Given the description of an element on the screen output the (x, y) to click on. 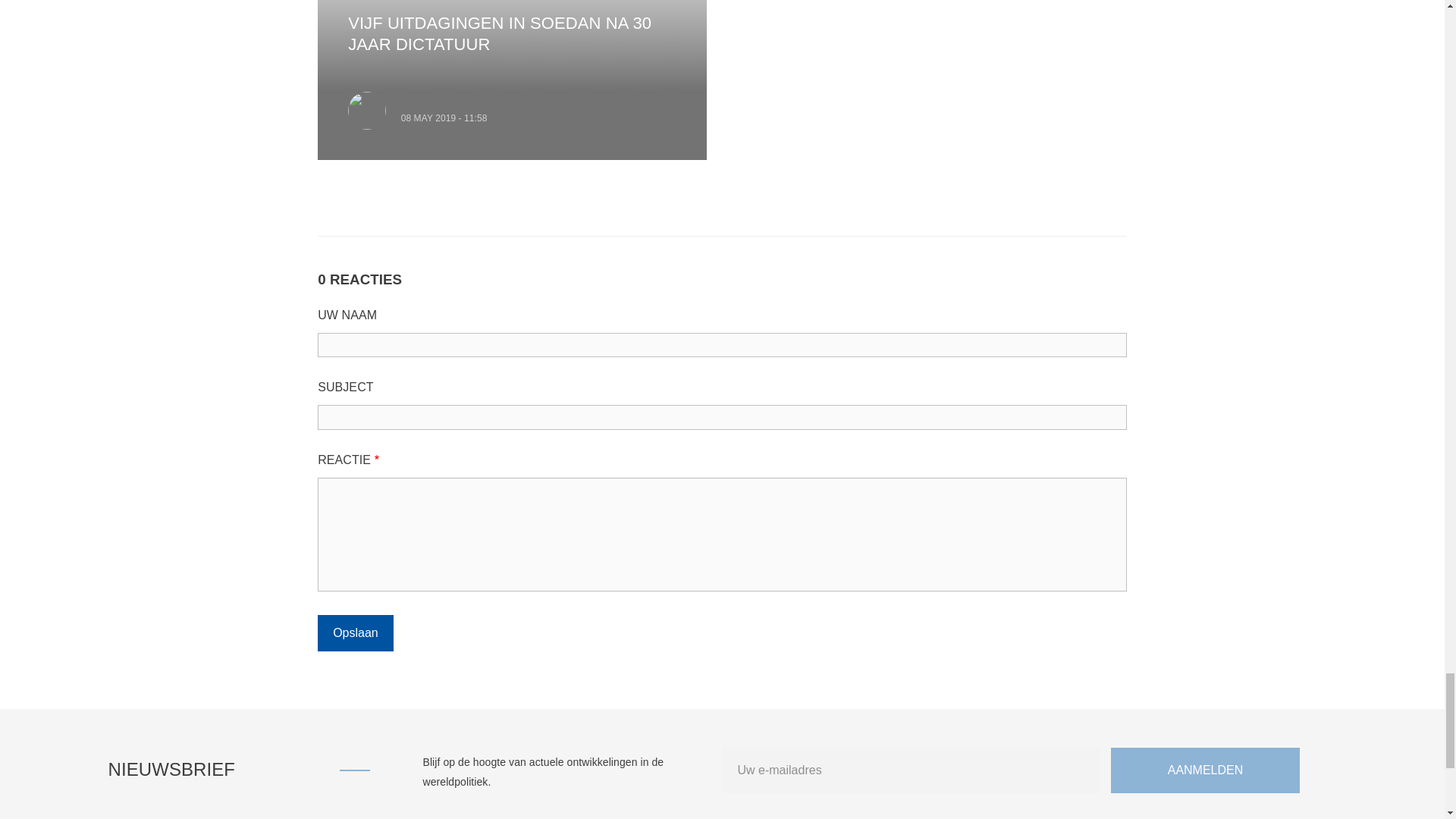
Opslaan (355, 293)
Aanmelden (1205, 431)
